Given the description of an element on the screen output the (x, y) to click on. 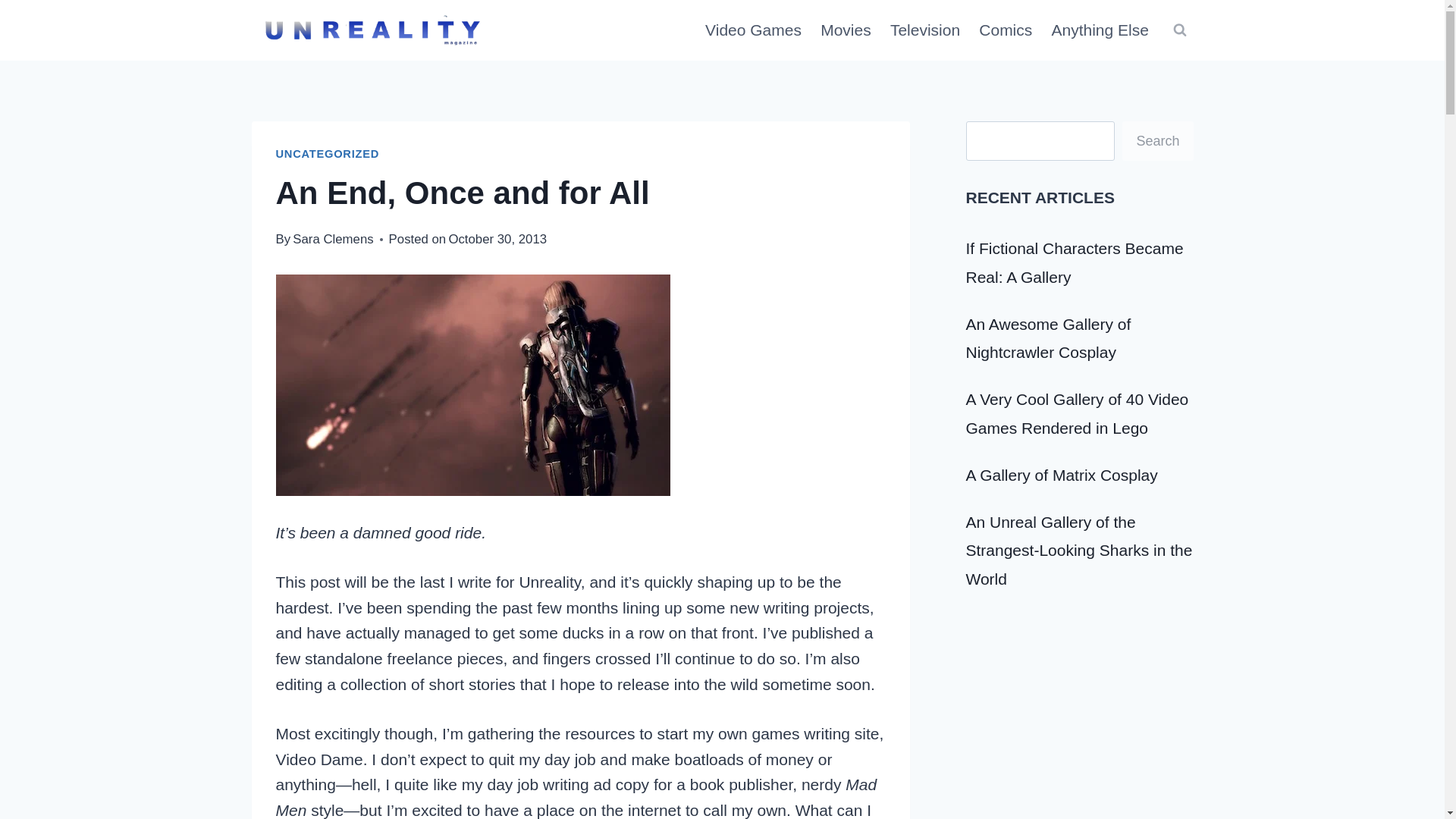
Movies (845, 30)
Comics (1005, 30)
UNCATEGORIZED (328, 153)
Video Games (752, 30)
Sara Clemens (332, 238)
Television (924, 30)
Anything Else (1100, 30)
